Given the description of an element on the screen output the (x, y) to click on. 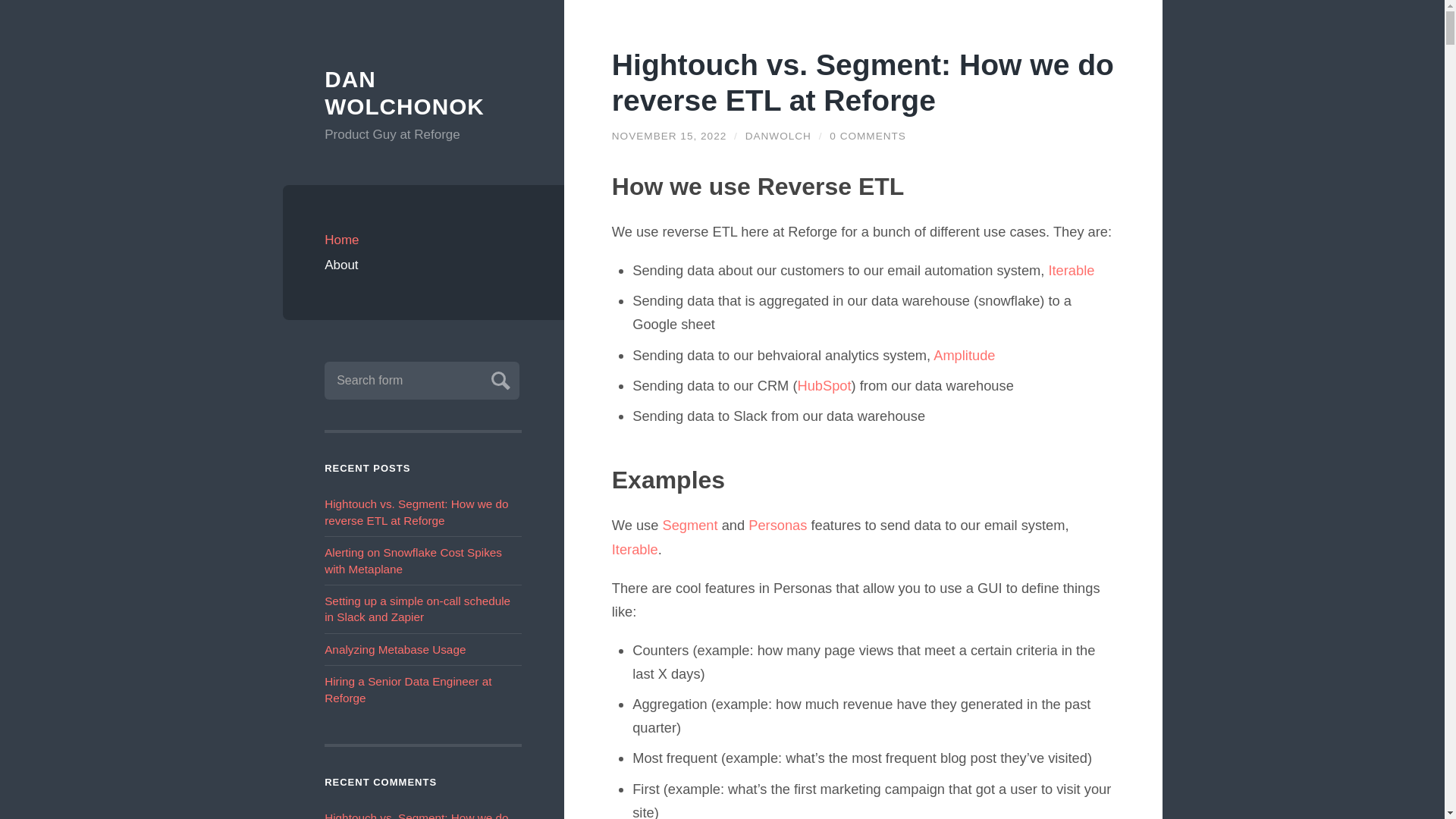
Search (498, 378)
About (422, 264)
Hiring a Senior Data Engineer at Reforge (408, 688)
Submit (498, 378)
Posts by danwolch (777, 135)
Alerting on Snowflake Cost Spikes with Metaplane (413, 560)
Hightouch vs. Segment: How we do reverse ETL at Reforge (862, 82)
Setting up a simple on-call schedule in Slack and Zapier (417, 608)
Analyzing Metabase Usage (394, 649)
Hightouch vs. Segment: How we do reverse ETL at Reforge (668, 135)
